Given the description of an element on the screen output the (x, y) to click on. 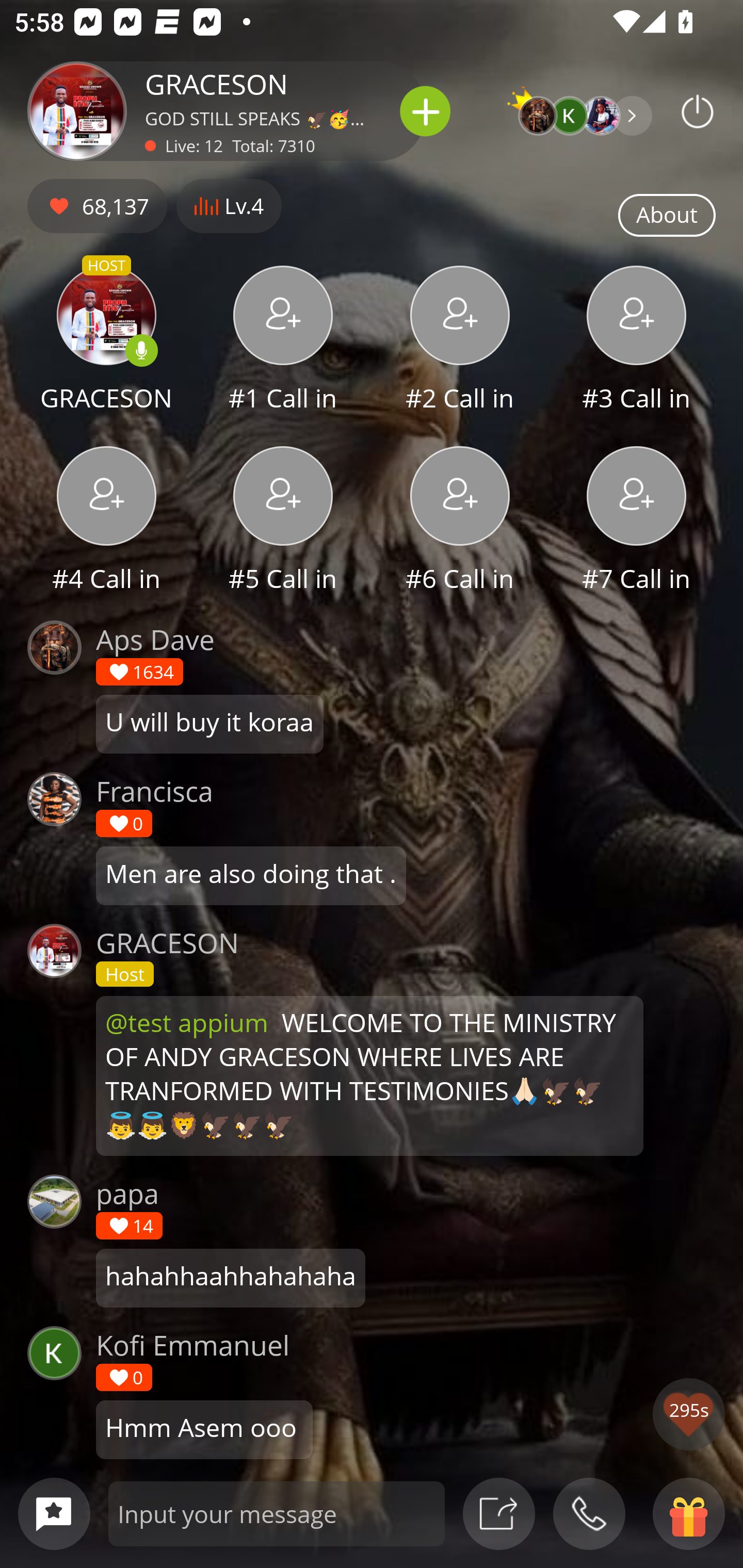
Podbean (697, 111)
About (666, 215)
HOST GRACESON (105, 340)
#1 Call in (282, 340)
#2 Call in (459, 340)
#3 Call in (636, 340)
#4 Call in (105, 521)
#5 Call in (282, 521)
#6 Call in (459, 521)
#7 Call in (636, 521)
Input your message (276, 1513)
